Given the description of an element on the screen output the (x, y) to click on. 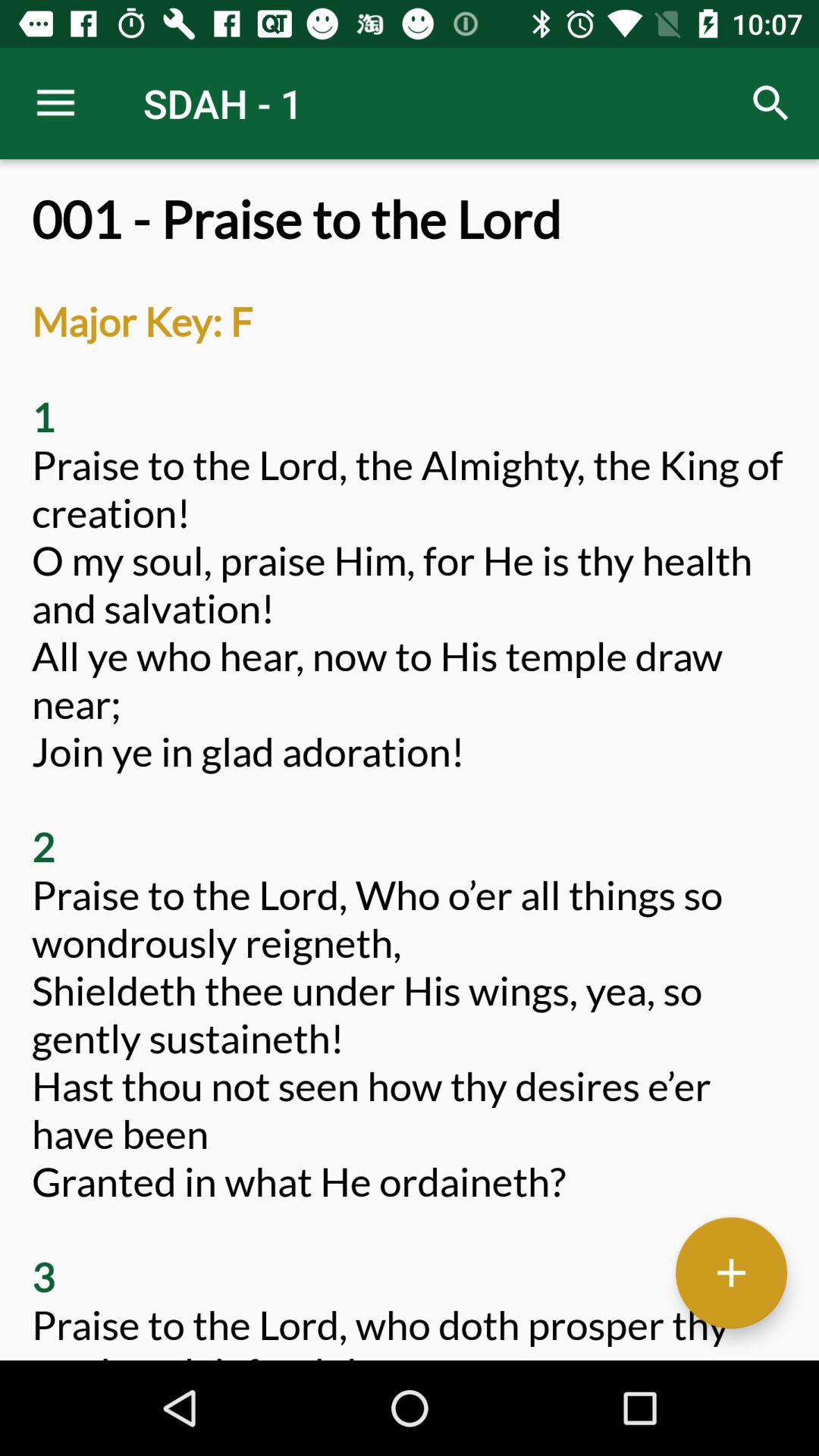
save hymn (731, 1272)
